Given the description of an element on the screen output the (x, y) to click on. 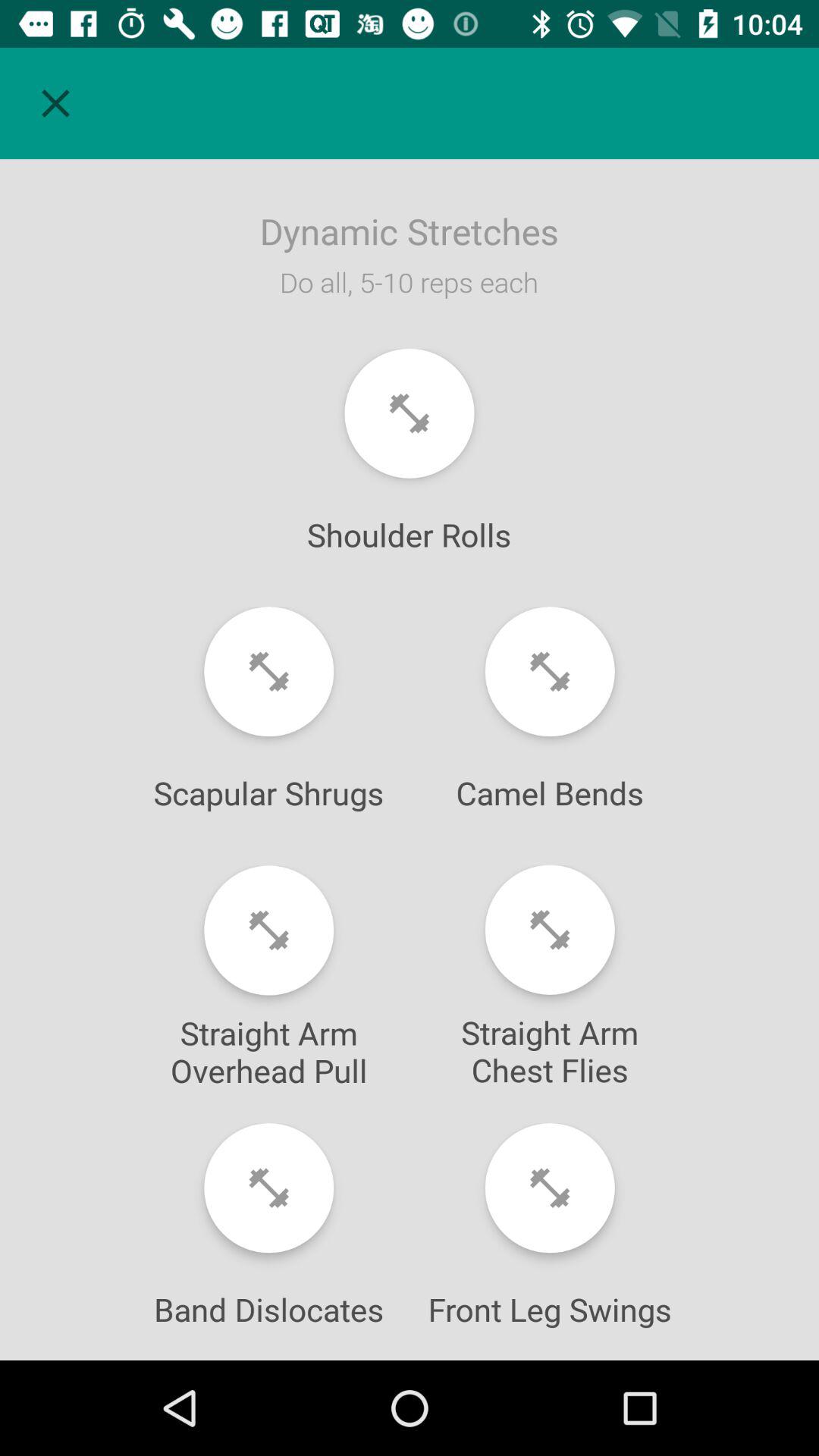
weight icon (409, 413)
